Given the description of an element on the screen output the (x, y) to click on. 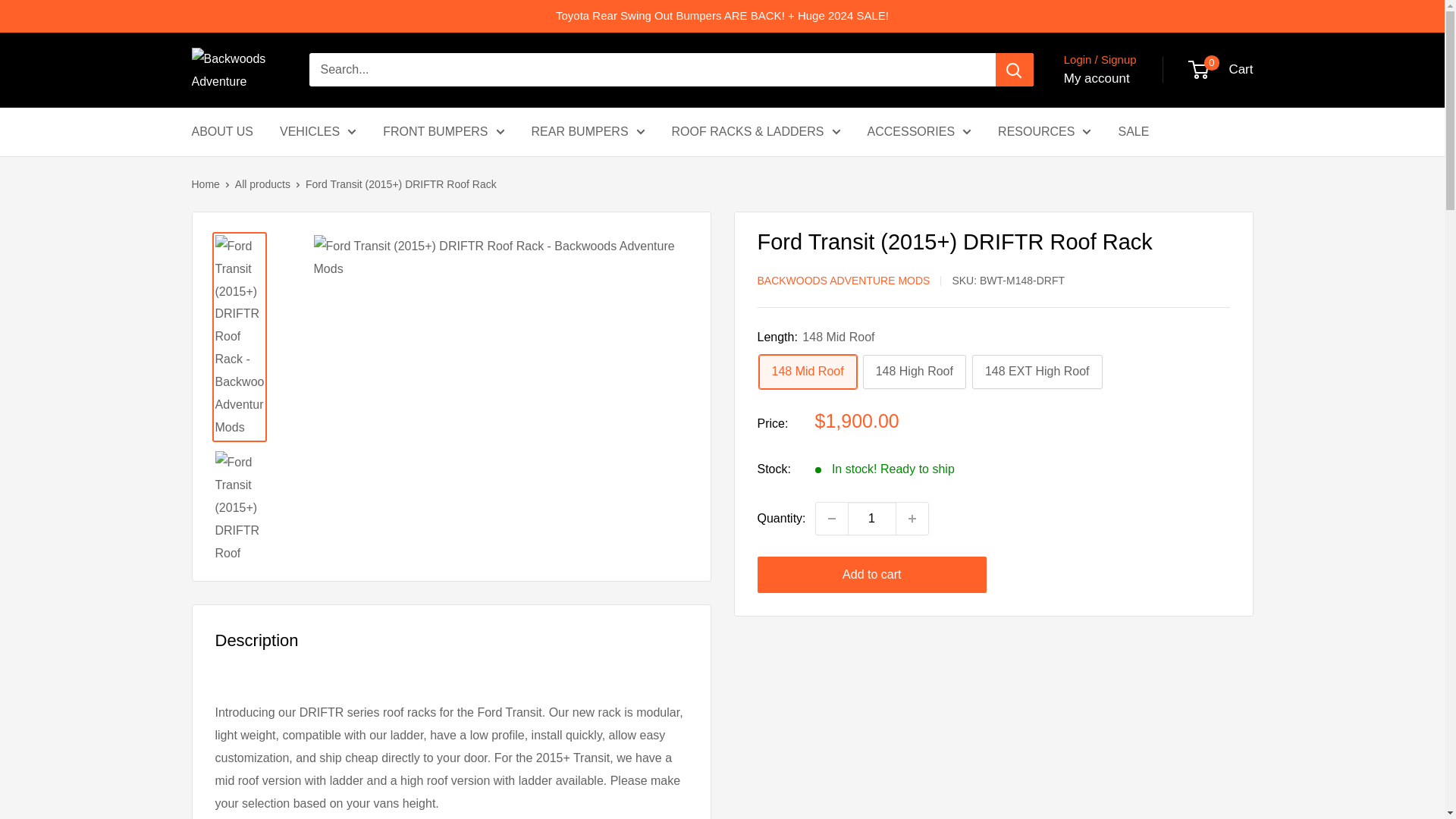
148 Mid Roof (807, 371)
Increase quantity by 1 (912, 518)
Decrease quantity by 1 (831, 518)
1 (871, 518)
148 High Roof (914, 371)
148 EXT High Roof (1037, 371)
